Given the description of an element on the screen output the (x, y) to click on. 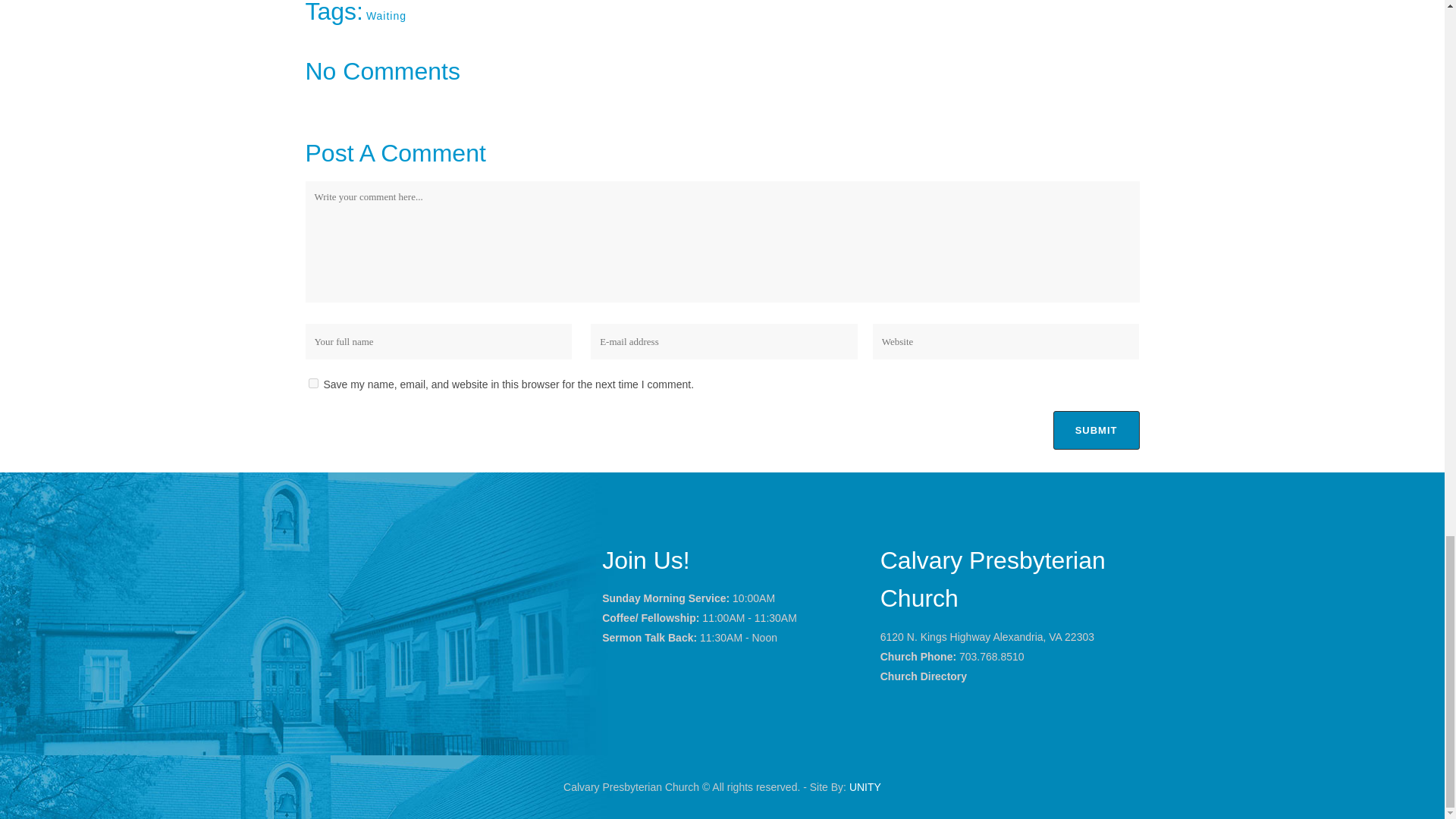
yes (312, 383)
Submit (1096, 430)
